Given the description of an element on the screen output the (x, y) to click on. 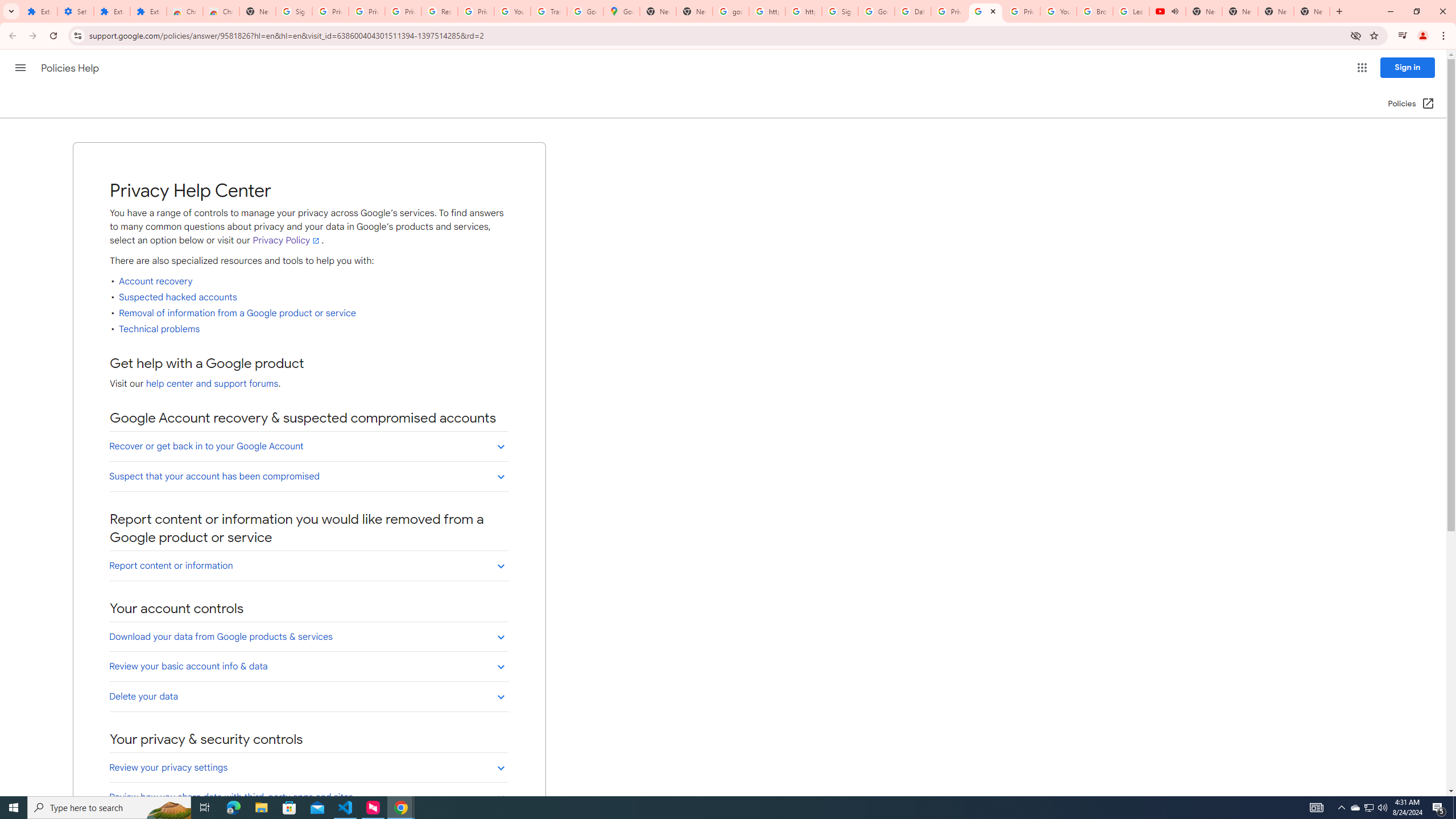
Policies Help (70, 68)
Settings (75, 11)
Review your basic account info & data (308, 666)
Browse Chrome as a guest - Computer - Google Chrome Help (1094, 11)
Extensions (111, 11)
Privacy Help Center - Policies Help (985, 11)
https://scholar.google.com/ (767, 11)
Review how you share data with third-party apps and sites (308, 797)
